Given the description of an element on the screen output the (x, y) to click on. 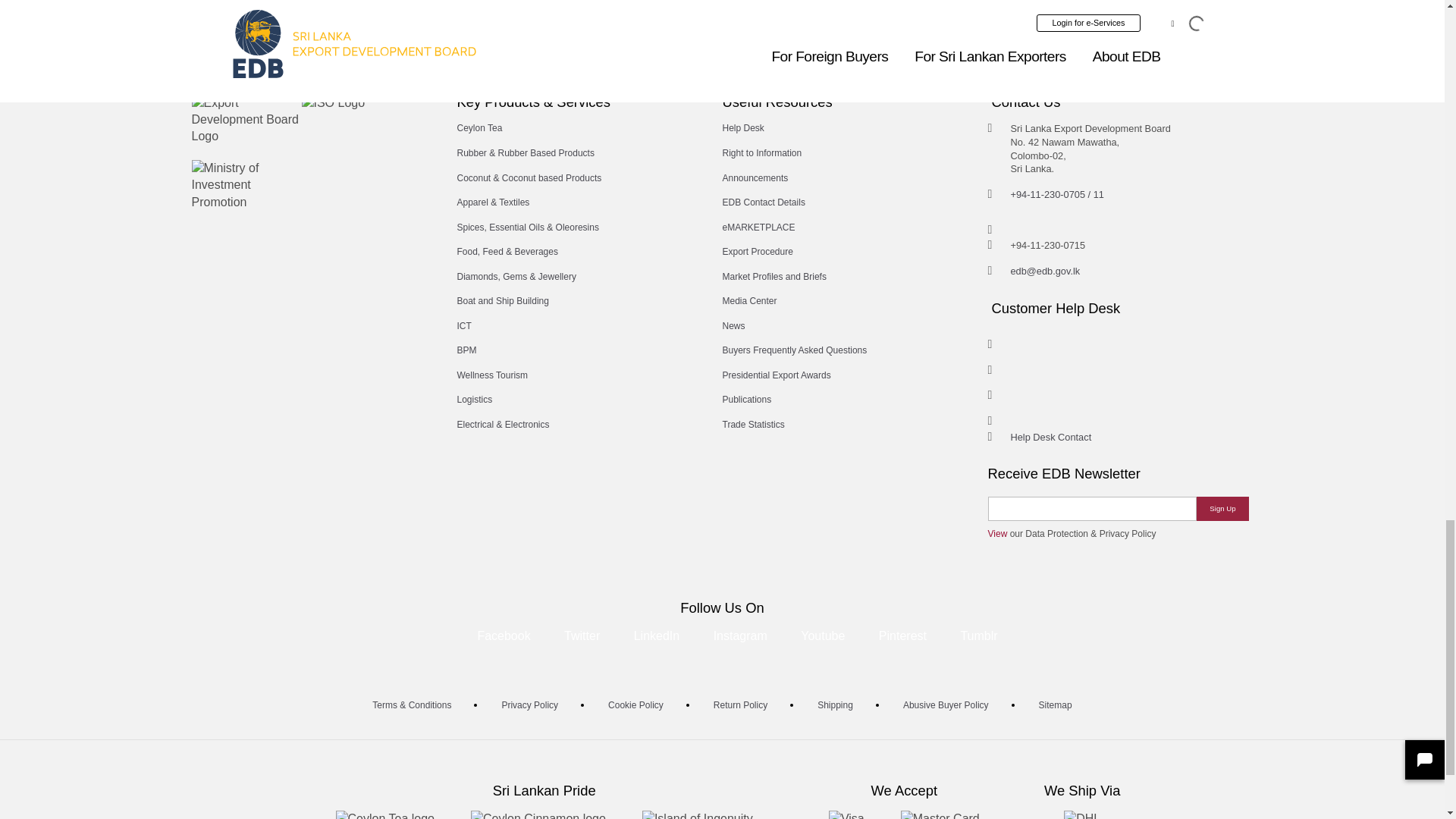
Ministry of Investment Promotion (245, 184)
Help Desk Contact (1050, 437)
Email Address (1045, 270)
Telephone Number (1056, 194)
ISO Logo (333, 103)
Facebook (503, 636)
Export Development Board Logo (245, 119)
Ceylon Tea (479, 127)
